Given the description of an element on the screen output the (x, y) to click on. 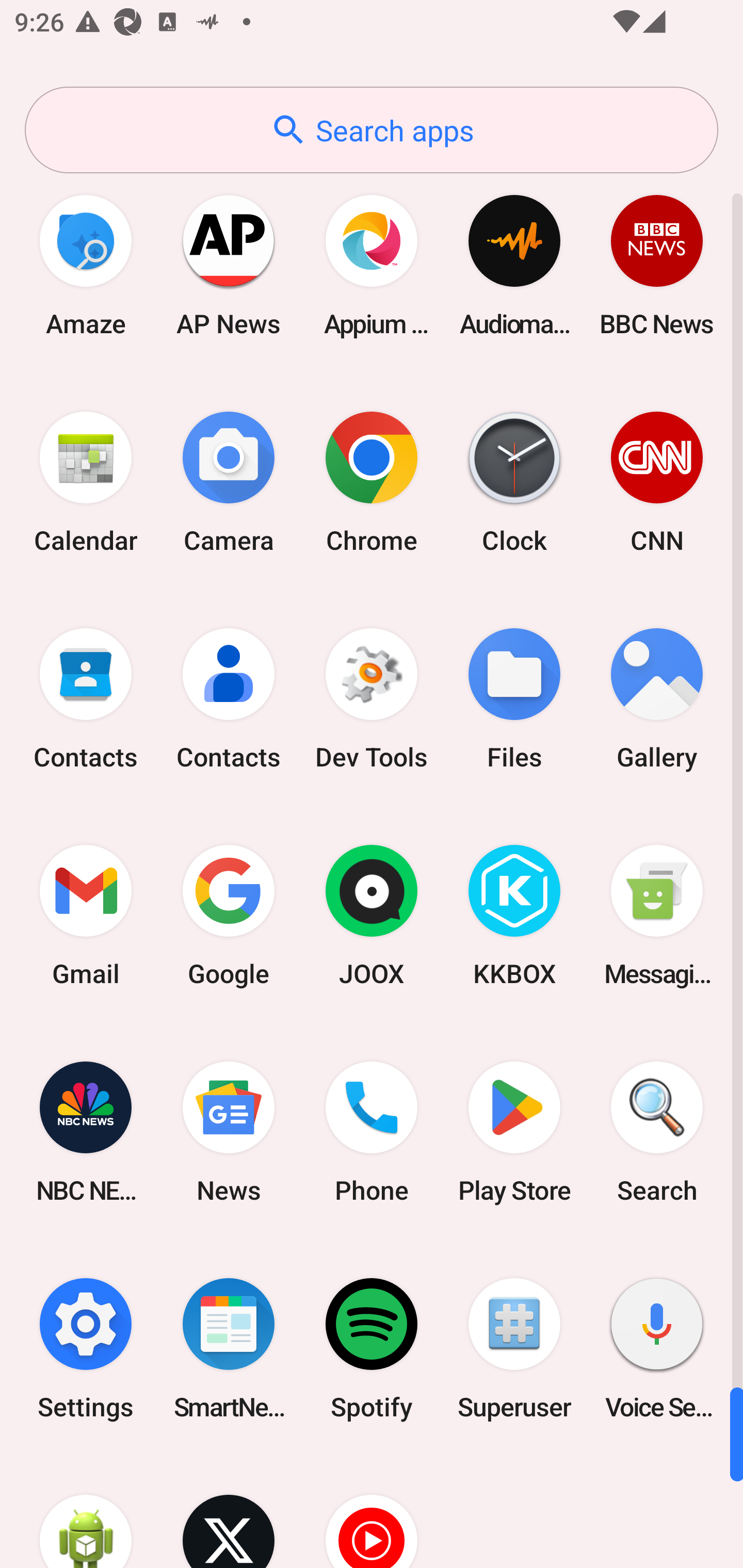
  Search apps (371, 130)
Amaze (85, 264)
AP News (228, 264)
Appium Settings (371, 264)
Audio­mack (514, 264)
BBC News (656, 264)
Calendar (85, 482)
Camera (228, 482)
Chrome (371, 482)
Clock (514, 482)
CNN (656, 482)
Contacts (85, 699)
Contacts (228, 699)
Dev Tools (371, 699)
Files (514, 699)
Gallery (656, 699)
Gmail (85, 915)
Google (228, 915)
JOOX (371, 915)
KKBOX (514, 915)
Messaging (656, 915)
NBC NEWS (85, 1131)
News (228, 1131)
Phone (371, 1131)
Play Store (514, 1131)
Search (656, 1131)
Settings (85, 1348)
SmartNews (228, 1348)
Spotify (371, 1348)
Superuser (514, 1348)
Voice Search (656, 1348)
